Given the description of an element on the screen output the (x, y) to click on. 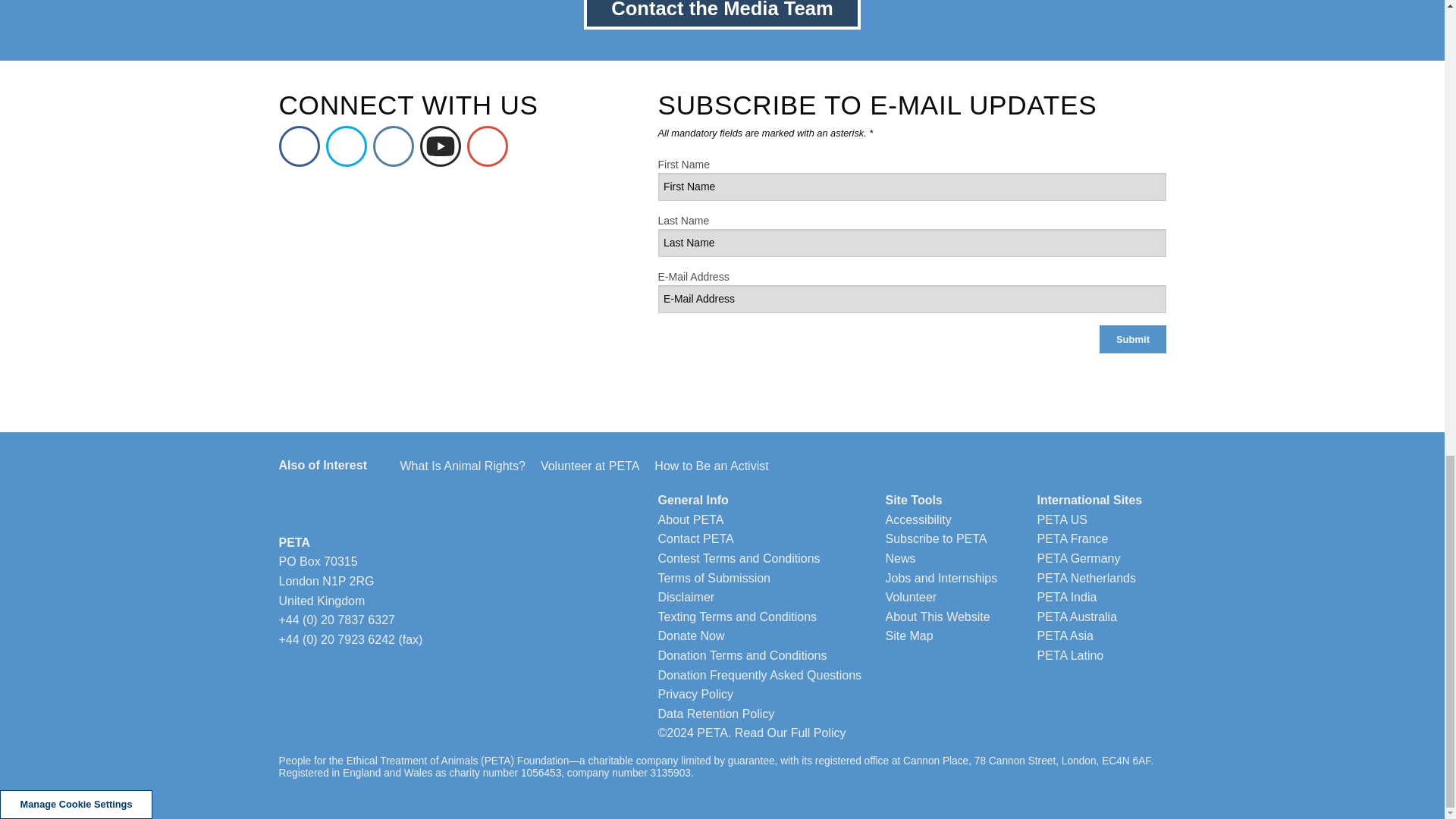
Submit (1132, 338)
